Given the description of an element on the screen output the (x, y) to click on. 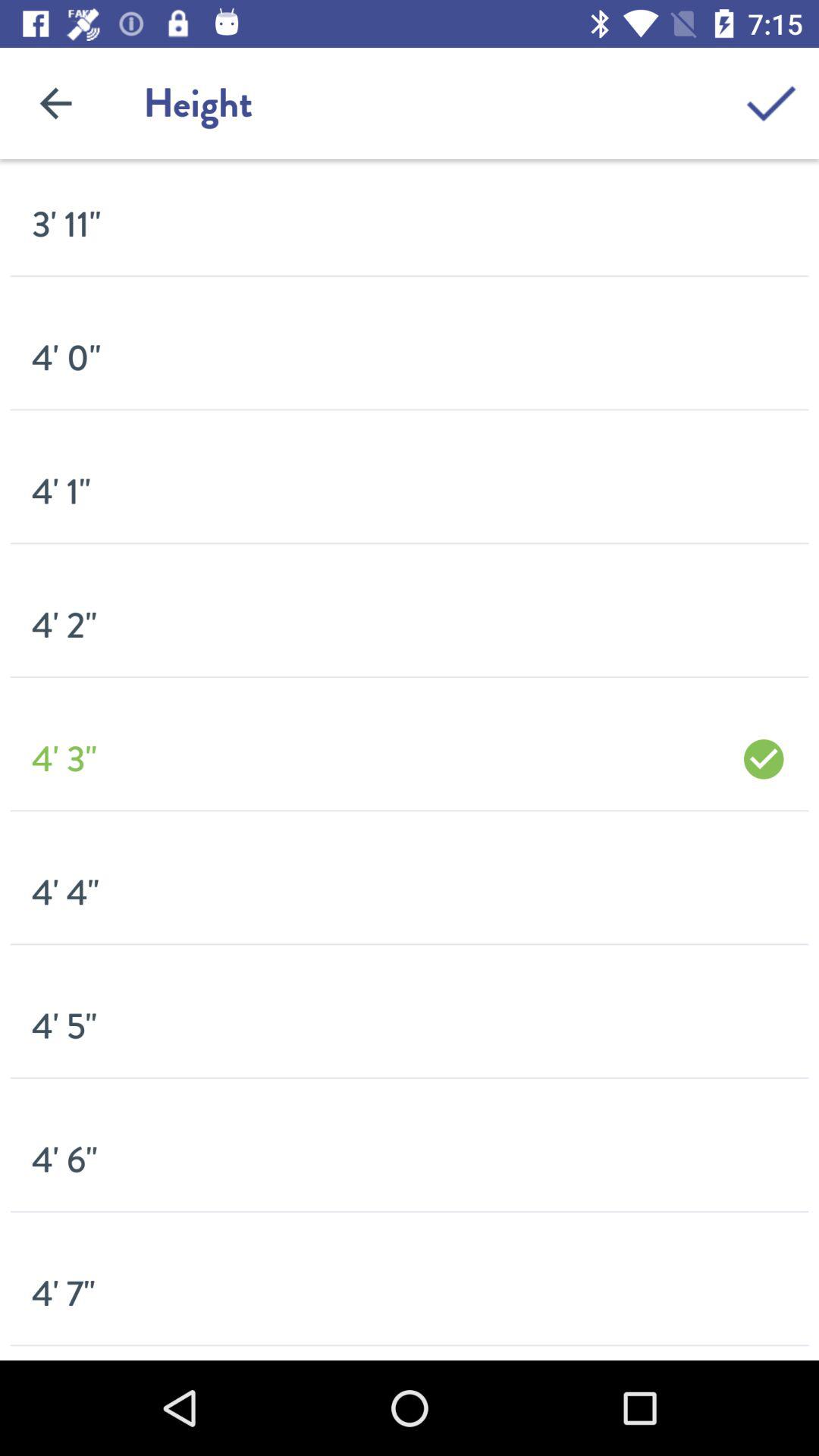
choose item to the left of the height icon (55, 103)
